Given the description of an element on the screen output the (x, y) to click on. 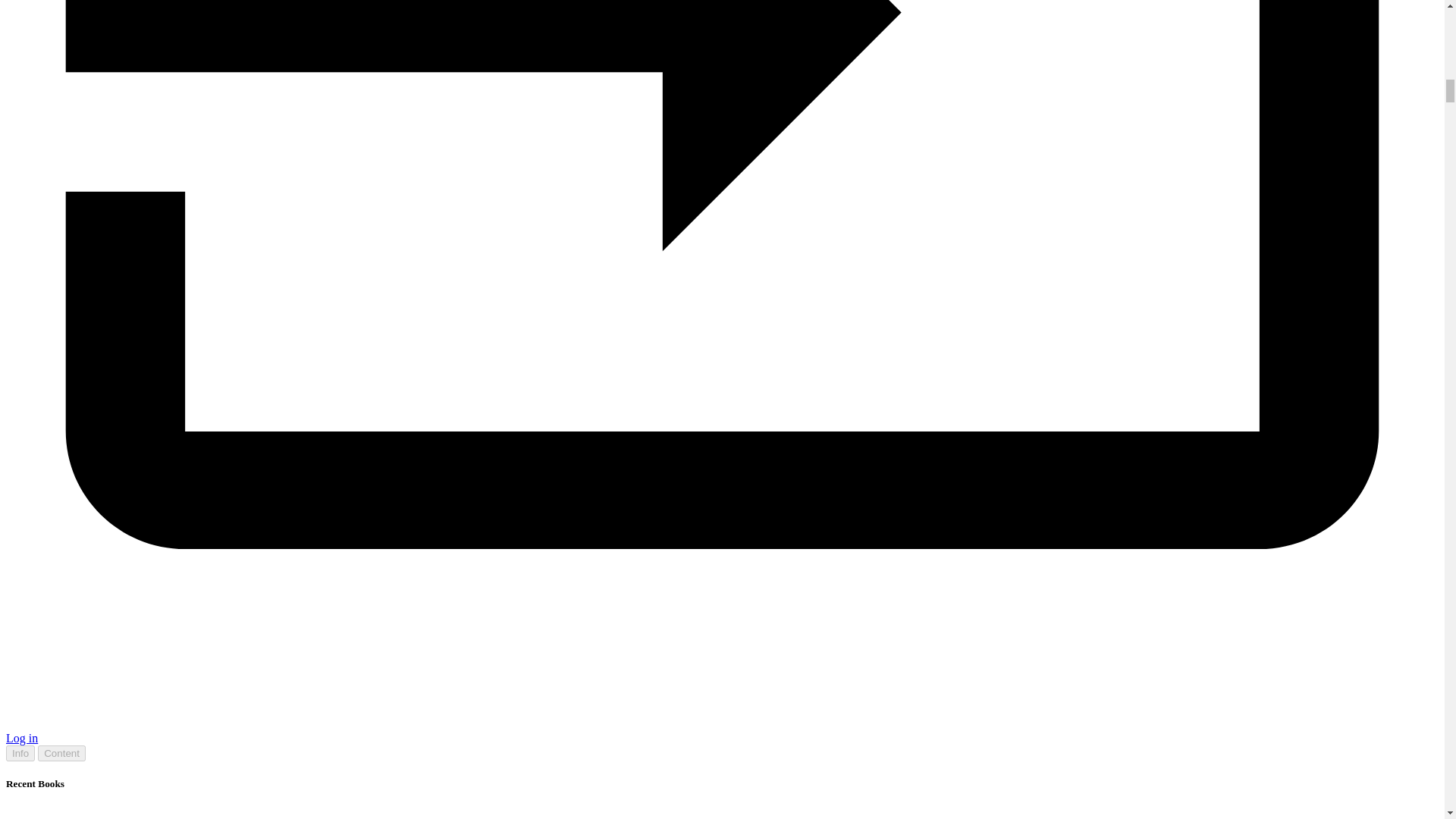
Content (61, 753)
Info (19, 753)
